Given the description of an element on the screen output the (x, y) to click on. 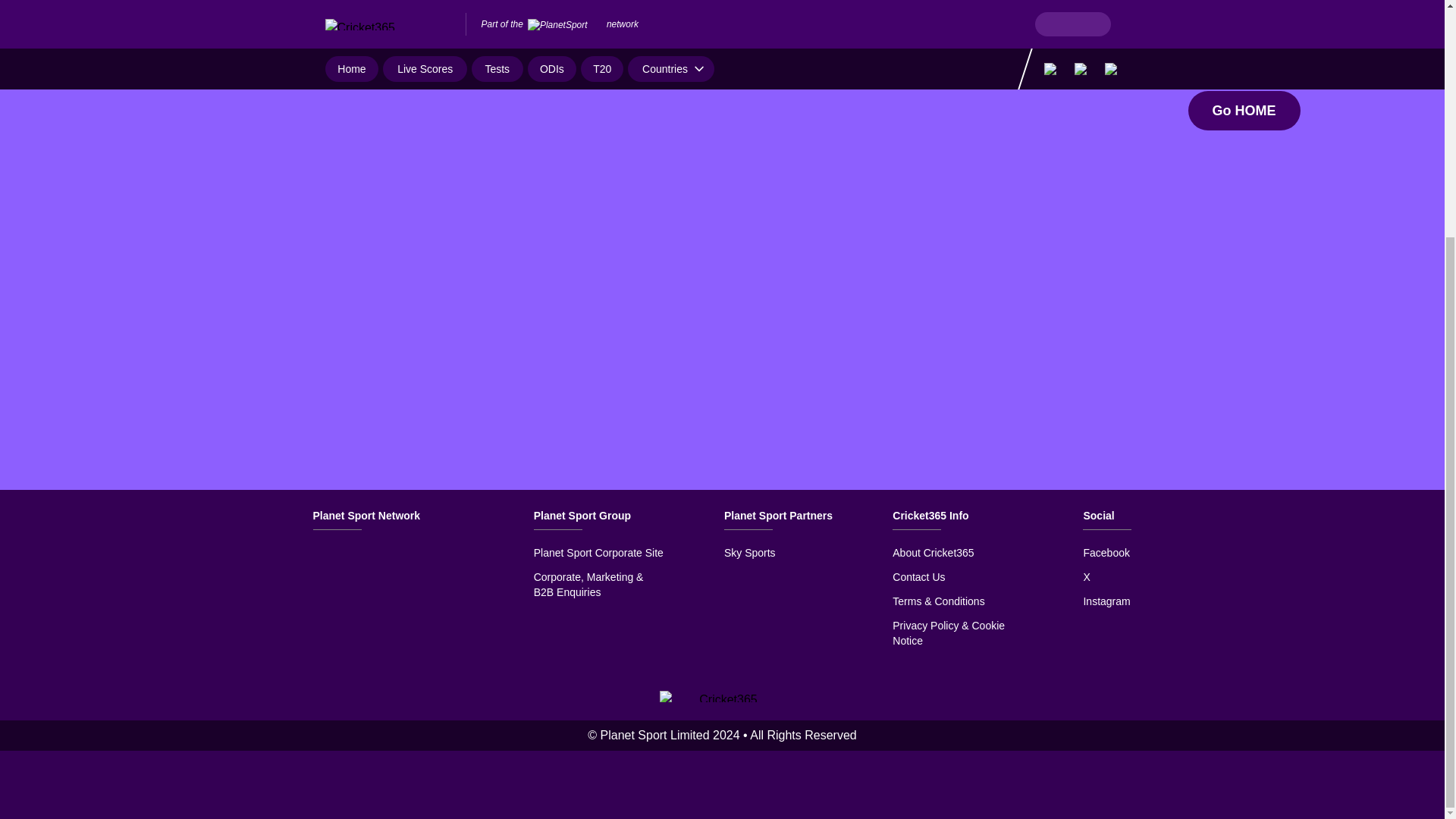
Go HOME (1244, 110)
